Given the description of an element on the screen output the (x, y) to click on. 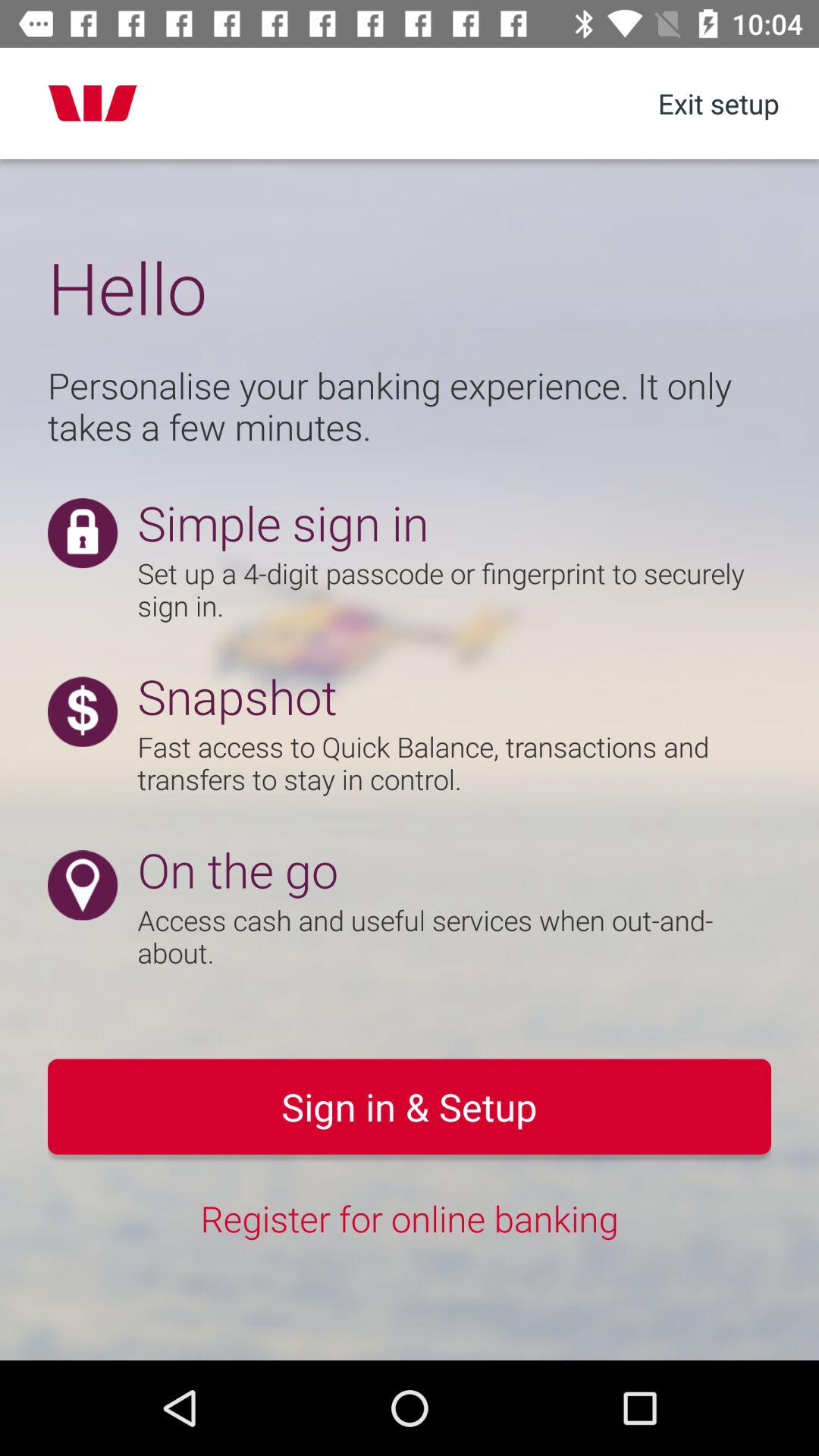
select the register for online icon (409, 1218)
